Given the description of an element on the screen output the (x, y) to click on. 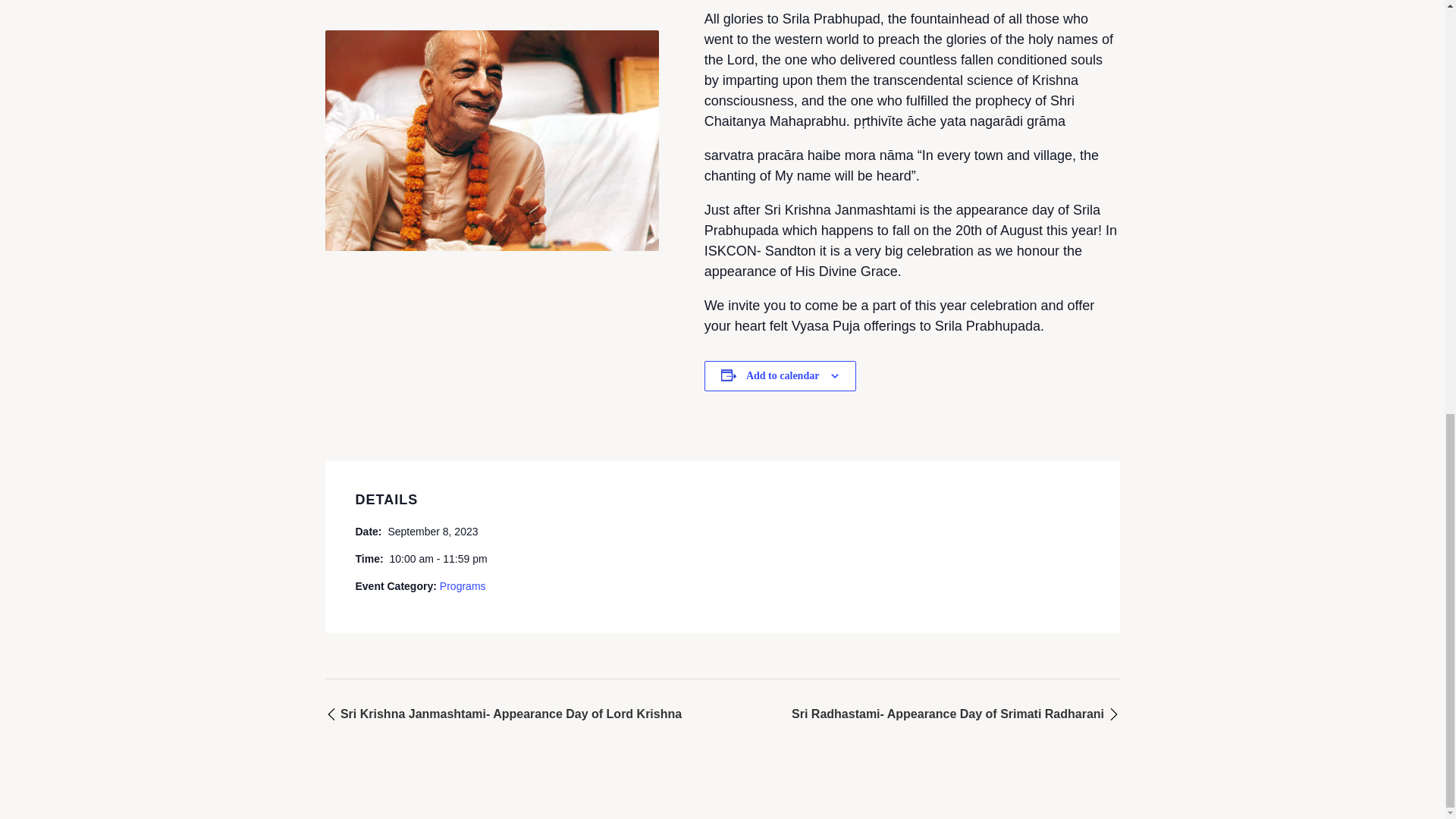
2023-09-08 (437, 558)
2023-09-08 (432, 531)
